Given the description of an element on the screen output the (x, y) to click on. 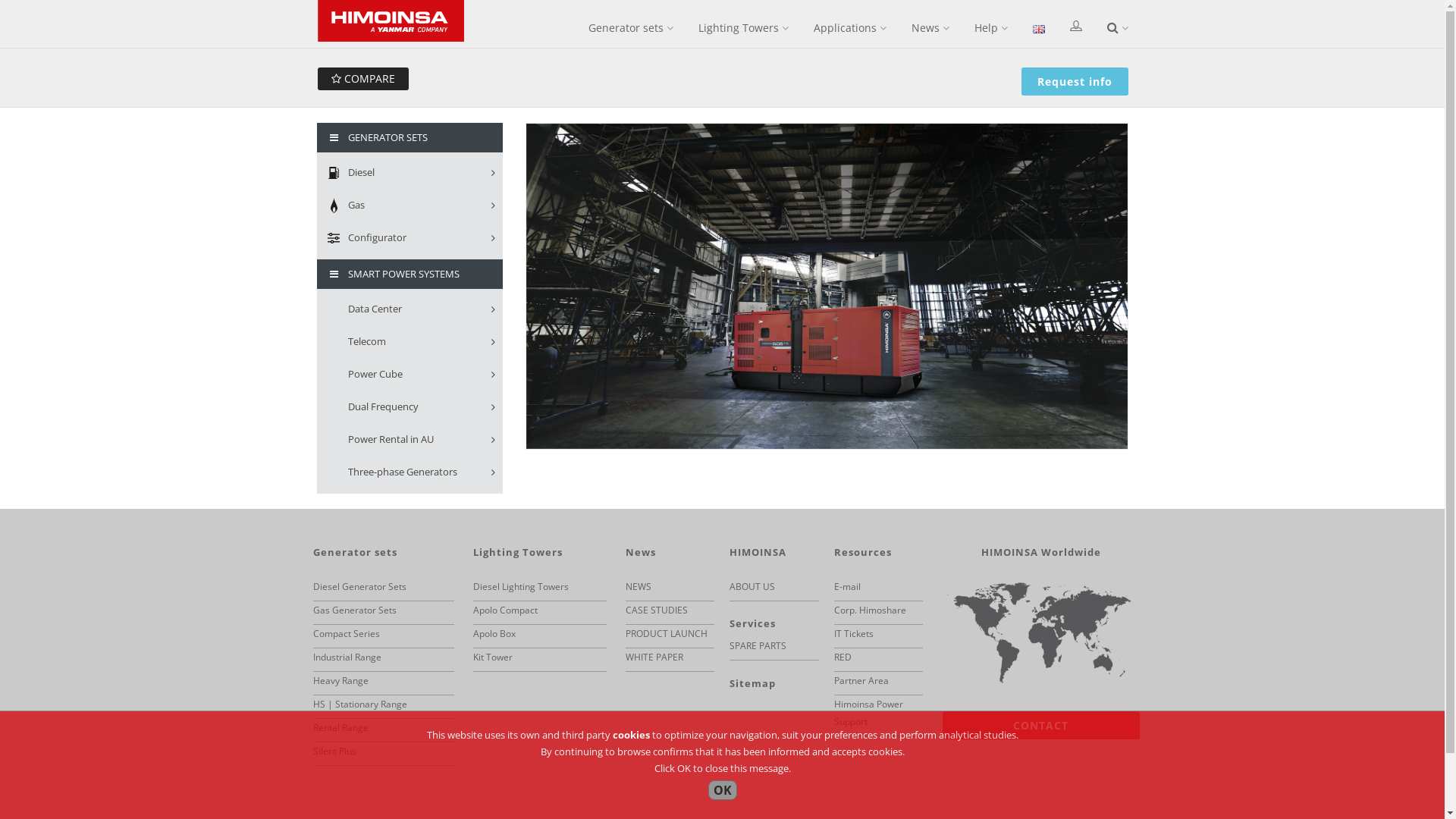
search Element type: hover (1117, 27)
Applications Element type: text (848, 27)
Silent Plus Element type: text (333, 750)
Kit Tower Element type: text (492, 656)
News Element type: text (930, 27)
Gas Generator Sets Element type: text (353, 609)
OK Element type: text (722, 790)
Apolo Compact Element type: text (505, 609)
Generator sets Element type: text (630, 27)
Power Rental in AU Element type: text (409, 440)
Compact Series Element type: text (345, 633)
CASE STUDIES Element type: text (656, 609)
Industrial Range Element type: text (346, 656)
Sitemap Element type: text (752, 683)
Heavy Range Element type: text (339, 680)
Data Center Element type: text (409, 309)
Lighting Towers Element type: text (742, 27)
Diesel Element type: text (409, 173)
Partner Area Element type: text (861, 680)
Power Cube Element type: text (409, 374)
Diesel Lighting Towers Element type: text (520, 586)
Private area Element type: hover (1075, 27)
IT Tickets Element type: text (853, 633)
Corp. Himoshare Element type: text (870, 609)
Gas Element type: text (409, 205)
Help Element type: text (990, 27)
SPARE PARTS Element type: text (757, 645)
Configurator Element type: text (409, 238)
WHITE PAPER Element type: text (654, 656)
NEWS Element type: text (638, 586)
ABOUT US Element type: text (752, 586)
Dual Frequency Element type: text (409, 407)
PRODUCT LAUNCH Element type: text (666, 633)
HS | Stationary Range Element type: text (359, 703)
Diesel Generator Sets Element type: text (358, 586)
RED Element type: text (842, 656)
CONTACT Element type: text (1040, 725)
E-mail Element type: text (847, 586)
Three-phase Generators Element type: text (409, 472)
Apolo Box Element type: text (494, 633)
Himoinsa Power Support Element type: text (868, 712)
Rental Range Element type: text (339, 727)
cookies Element type: text (630, 734)
 COMPARE Element type: text (361, 78)
Request info Element type: text (1074, 81)
Telecom Element type: text (409, 342)
